Given the description of an element on the screen output the (x, y) to click on. 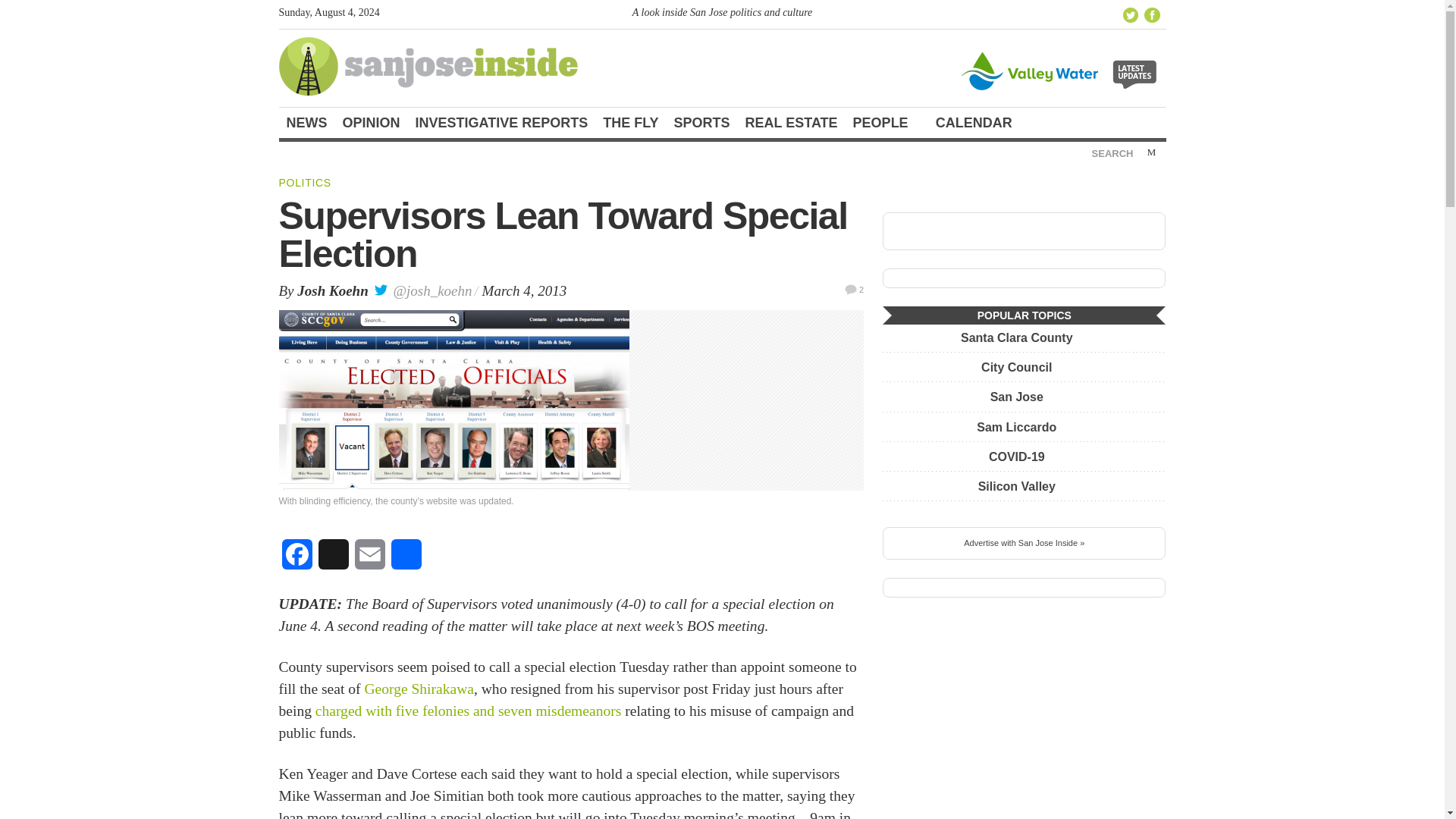
The Fly (630, 122)
San Jose Inside on Twitter (1130, 14)
OPINION (370, 122)
REAL ESTATE (791, 122)
View all posts in Politics (305, 182)
News (306, 122)
2 comments (853, 287)
CALENDAR (980, 122)
San Jose Inside on Facebook (1152, 14)
THE FLY (630, 122)
SPORTS (702, 122)
News from Valley Water (1061, 69)
INVESTIGATIVE REPORTS (501, 122)
Investigative Reports (501, 122)
Opinion (370, 122)
